Given the description of an element on the screen output the (x, y) to click on. 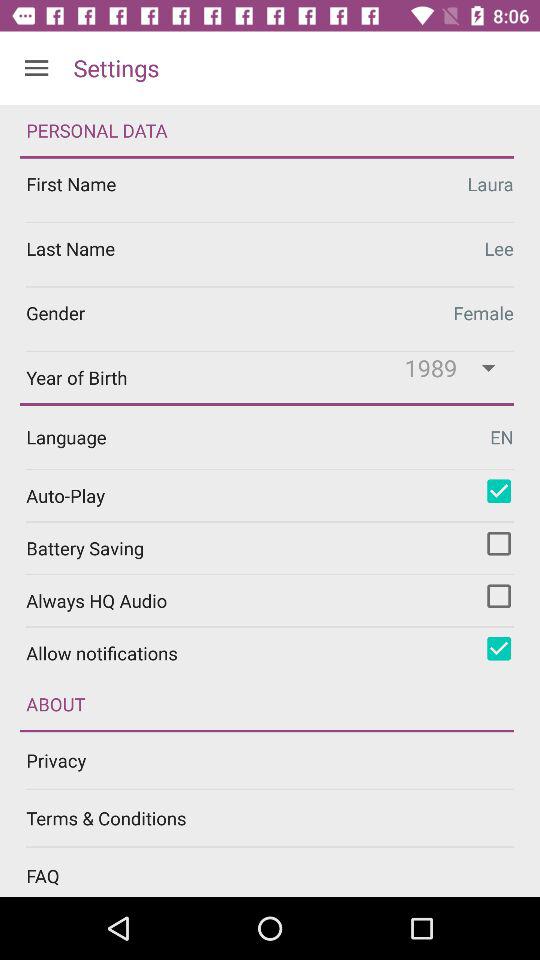
toggle battery saving option (499, 543)
